Given the description of an element on the screen output the (x, y) to click on. 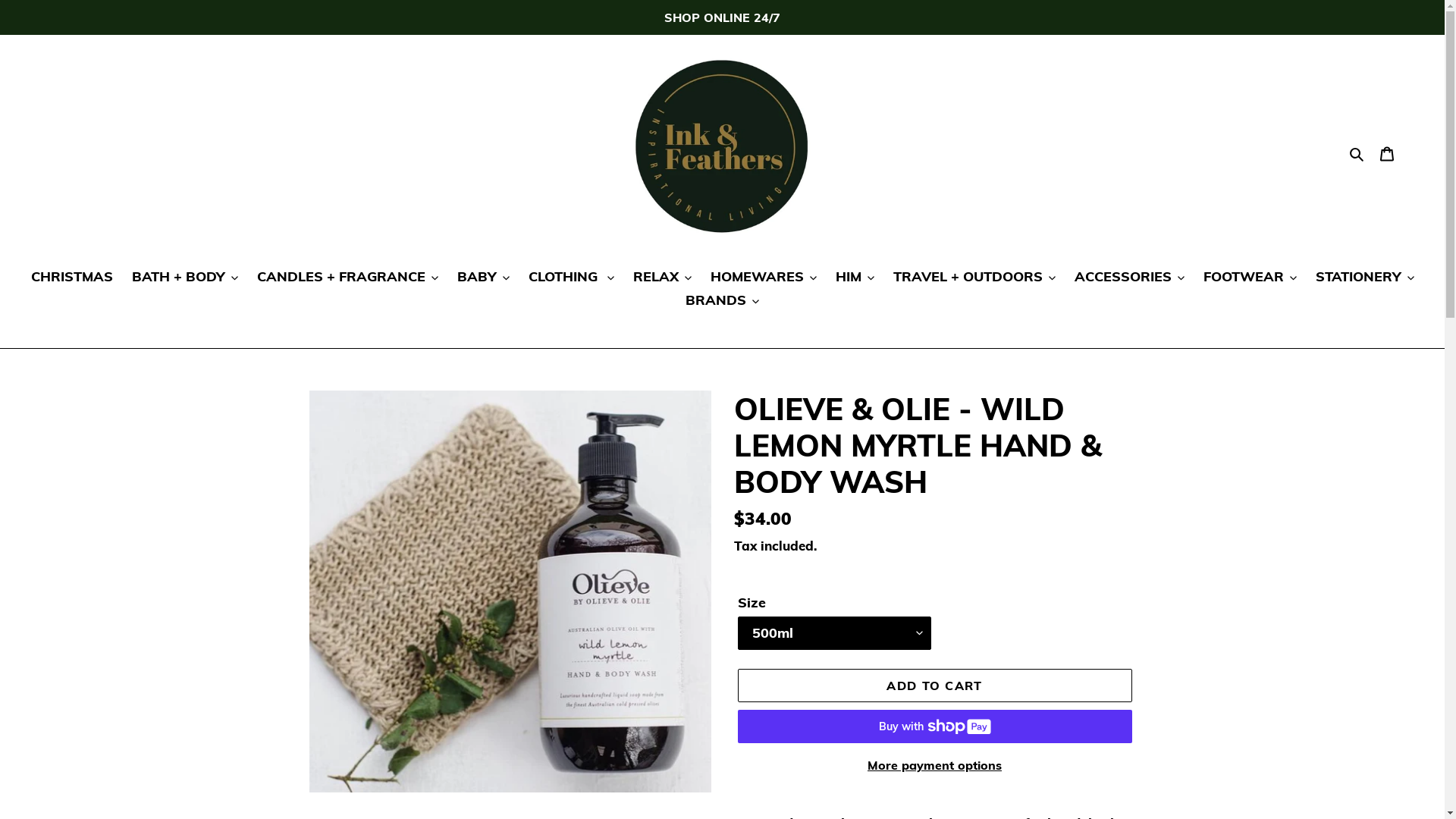
ACCESSORIES Element type: text (1128, 277)
Search Element type: text (1357, 152)
BATH + BODY Element type: text (184, 277)
FOOTWEAR Element type: text (1249, 277)
HIM Element type: text (854, 277)
ADD TO CART Element type: text (934, 685)
Cart Element type: text (1386, 152)
CANDLES + FRAGRANCE Element type: text (346, 277)
BRANDS Element type: text (721, 300)
HOMEWARES Element type: text (762, 277)
CHRISTMAS Element type: text (70, 277)
BABY Element type: text (482, 277)
TRAVEL + OUTDOORS Element type: text (974, 277)
RELAX Element type: text (661, 277)
More payment options Element type: text (934, 765)
CLOTHING Element type: text (570, 277)
STATIONERY Element type: text (1364, 277)
